Given the description of an element on the screen output the (x, y) to click on. 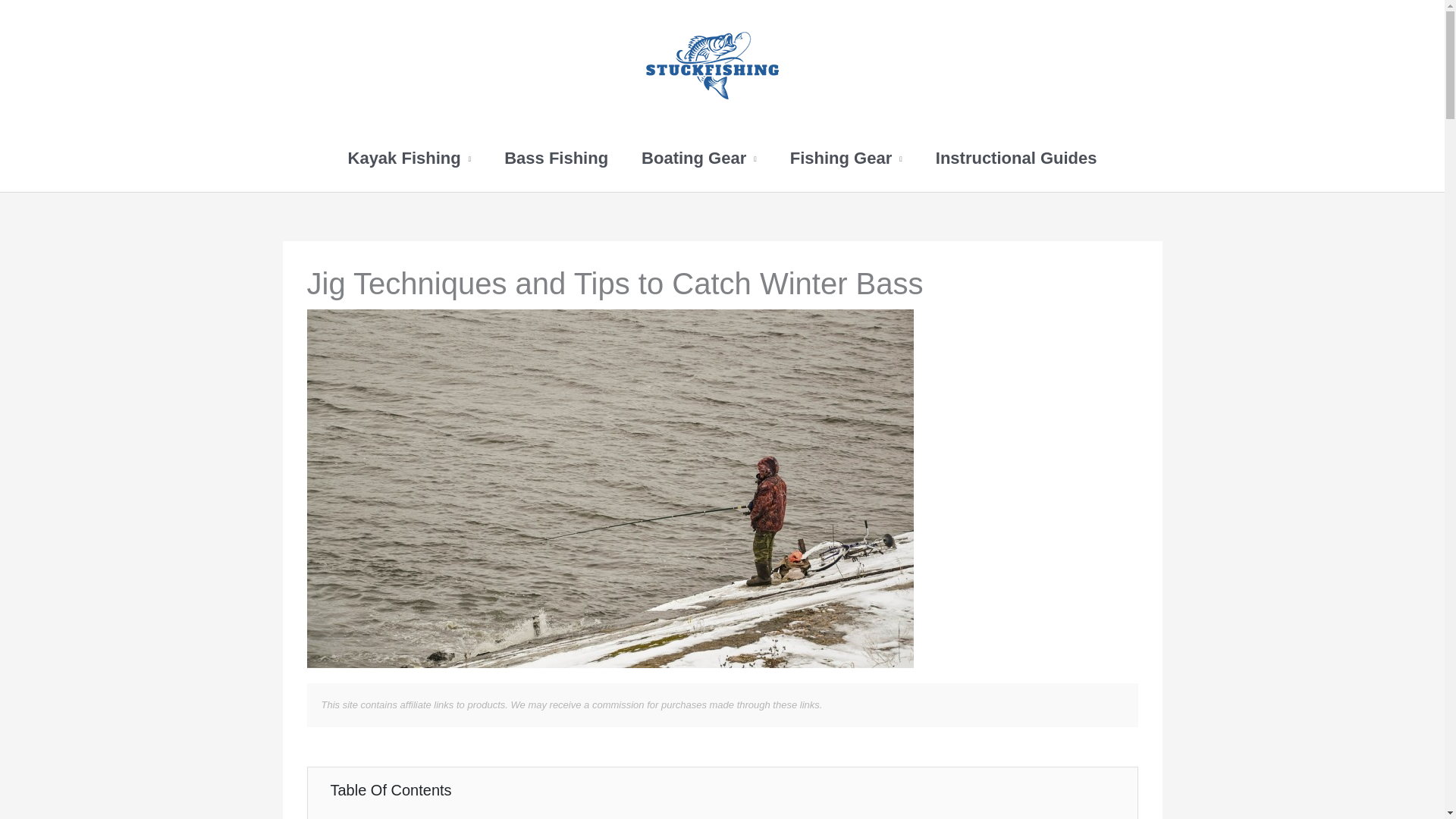
Fishing Gear (845, 158)
Bass Fishing (555, 158)
Kayak Fishing (409, 158)
Boating Gear (698, 158)
Instructional Guides (1015, 158)
